Given the description of an element on the screen output the (x, y) to click on. 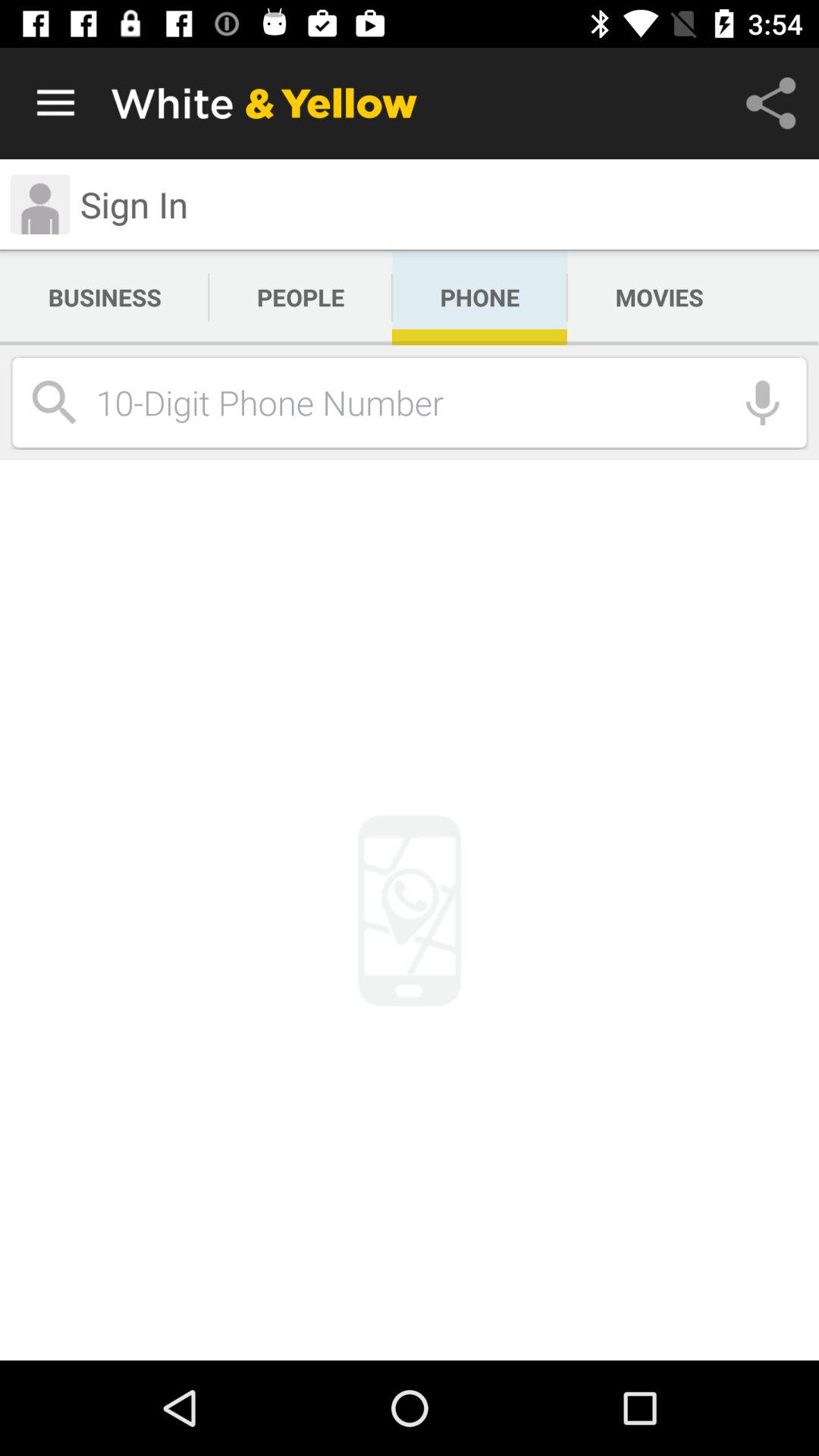
jump to the people icon (300, 297)
